Given the description of an element on the screen output the (x, y) to click on. 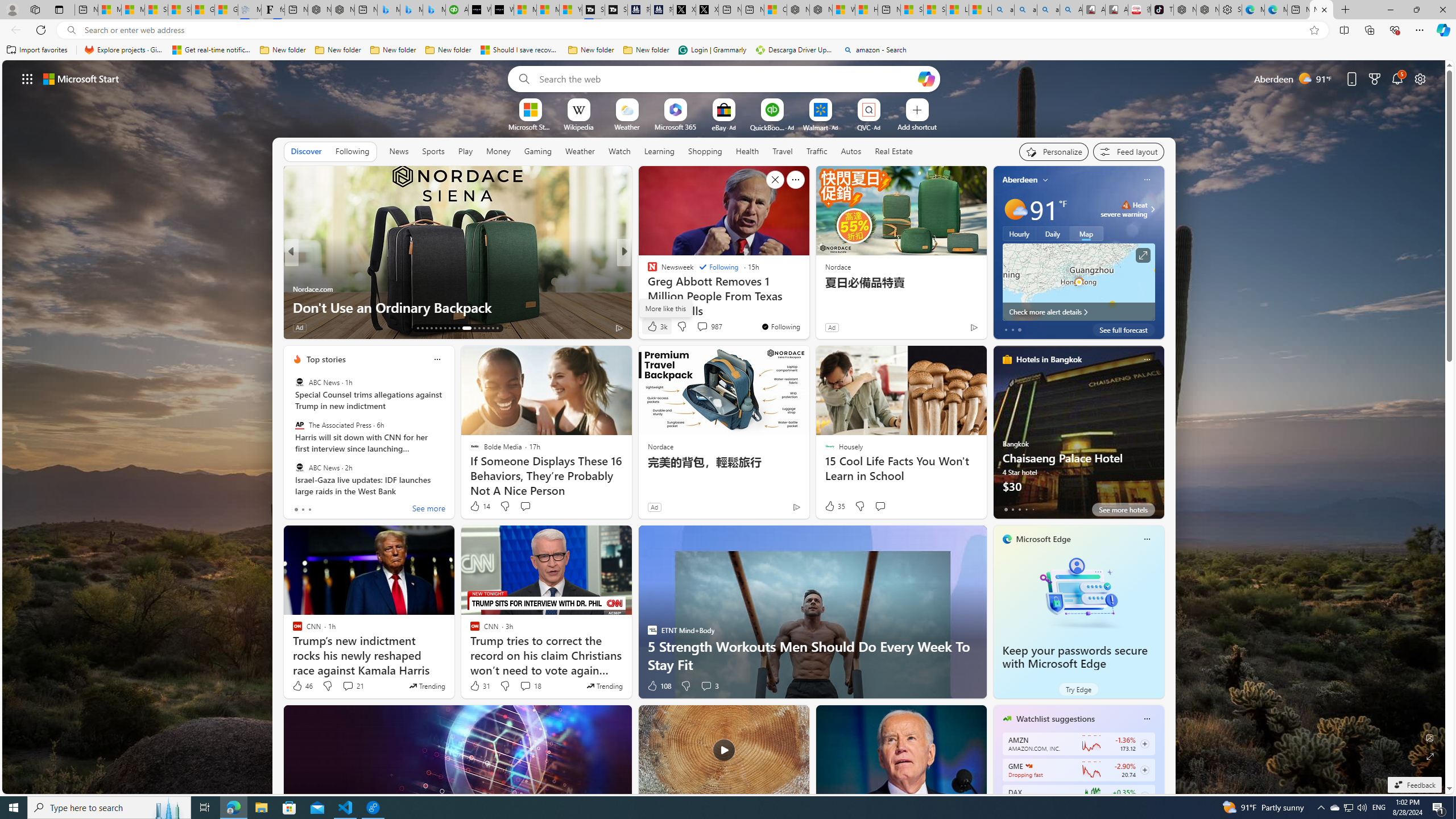
This story is trending (604, 685)
Discover (306, 151)
Watchlist suggestions (1055, 718)
Travel (782, 151)
View comments 85 Comment (698, 327)
Traffic (816, 151)
AutomationID: tab-27 (488, 328)
View comments 3 Comment (705, 685)
X (707, 9)
35 Like (834, 505)
AutomationID: tab-20 (449, 328)
